Given the description of an element on the screen output the (x, y) to click on. 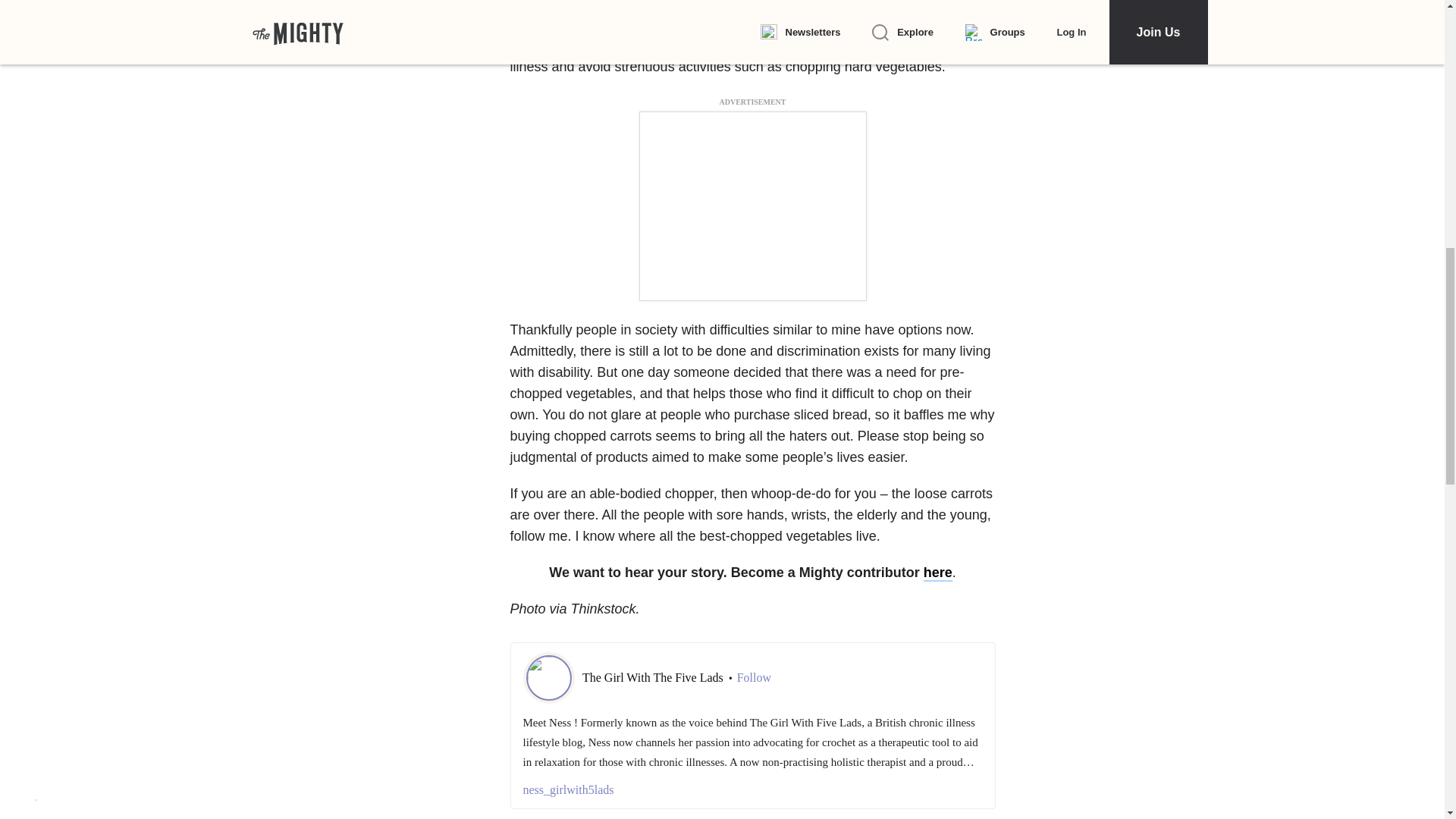
here (937, 573)
Follow (753, 677)
The Girl With The Five Lads (654, 676)
